Given the description of an element on the screen output the (x, y) to click on. 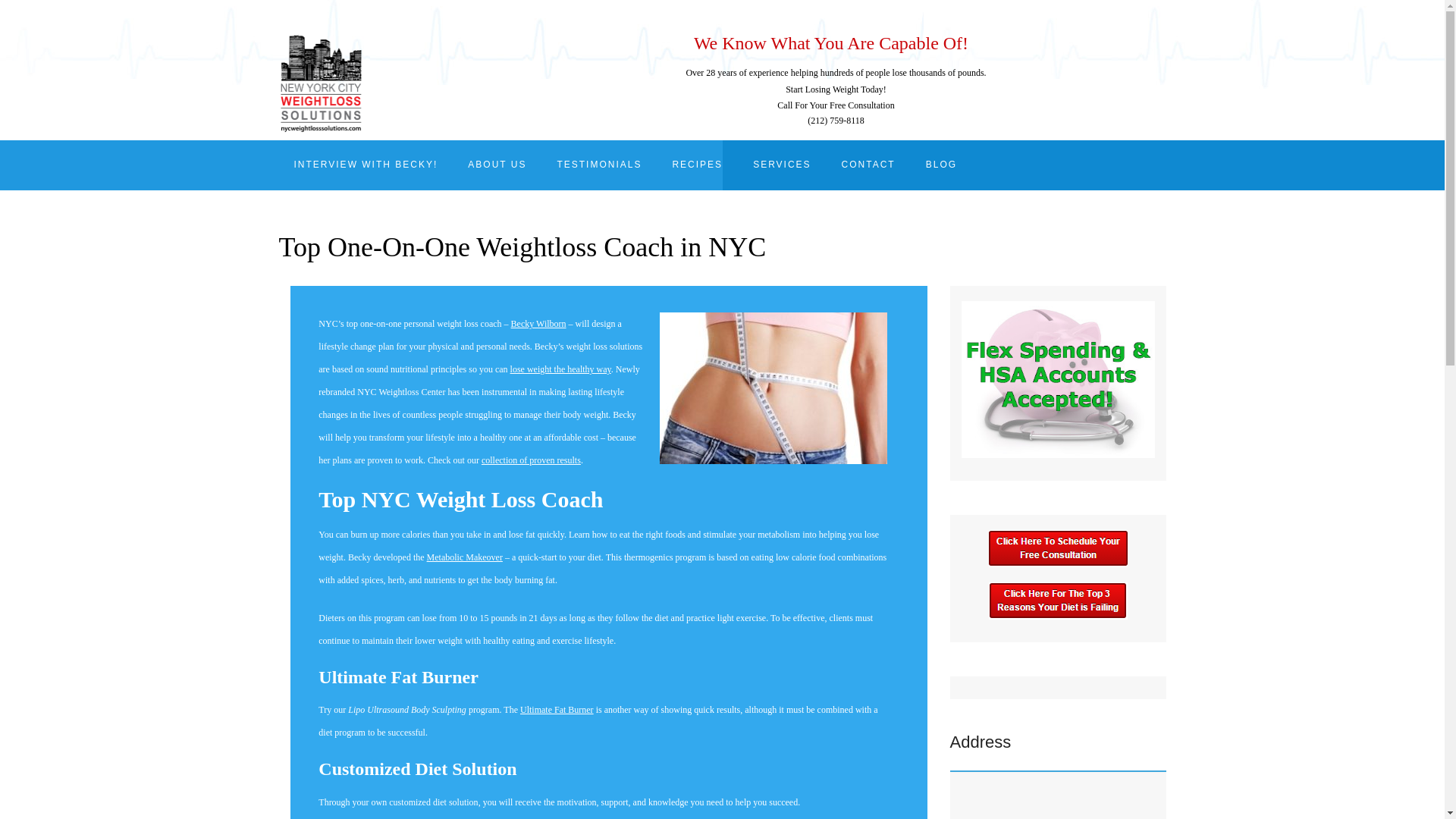
TESTIMONIALS (598, 165)
SERVICES (781, 165)
CONTACT (869, 165)
ABOUT US (496, 165)
Recipes (697, 165)
Blog (941, 165)
Interview With Becky! (365, 165)
Contact (869, 165)
lose weight the healthy way (561, 368)
About Us (496, 165)
Testimonials (598, 165)
INTERVIEW WITH BECKY! (365, 165)
collection of proven results (530, 460)
Ultimate Fat Burner (556, 709)
BLOG (941, 165)
